Given the description of an element on the screen output the (x, y) to click on. 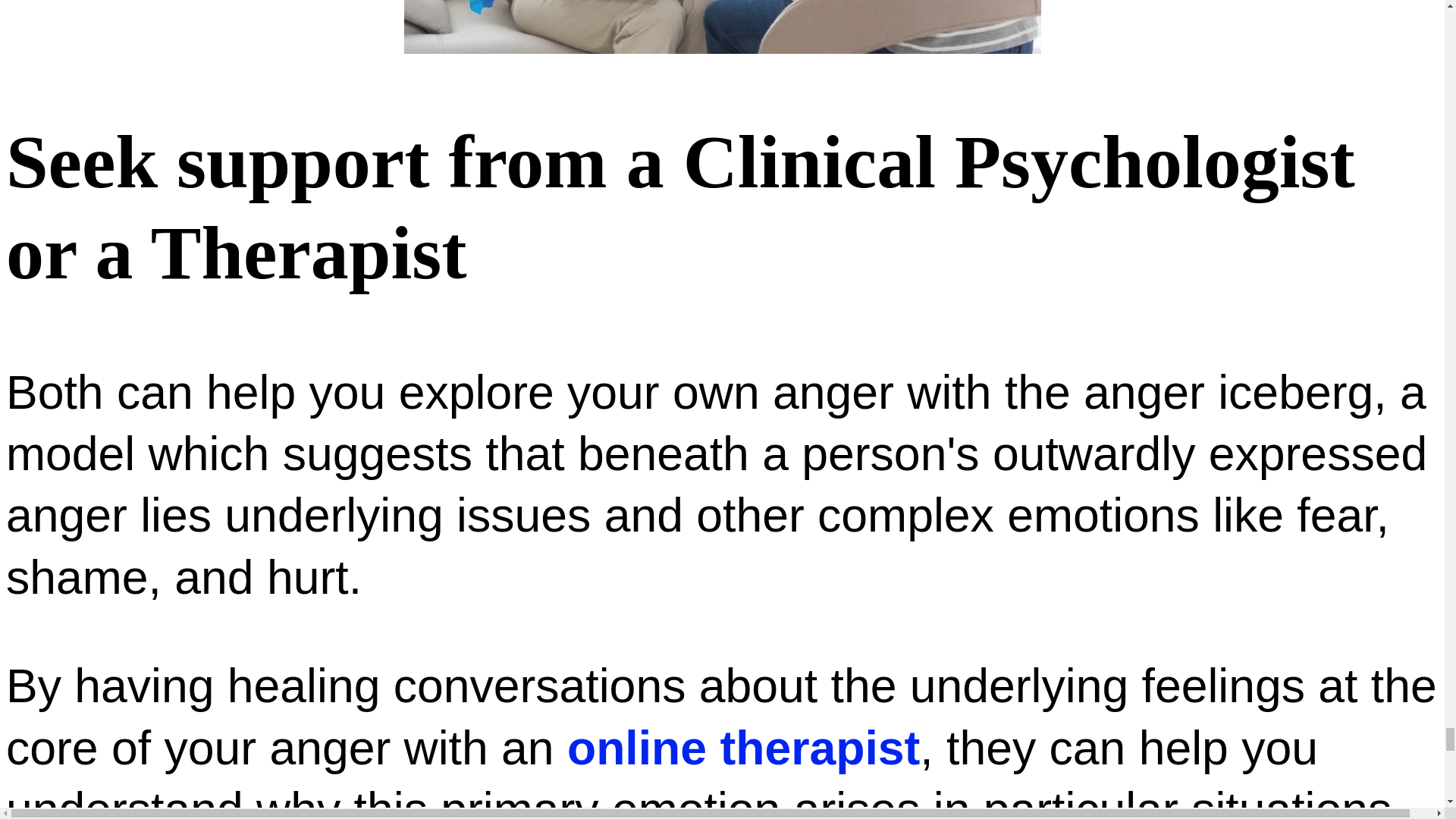
online therapist (743, 746)
